Given the description of an element on the screen output the (x, y) to click on. 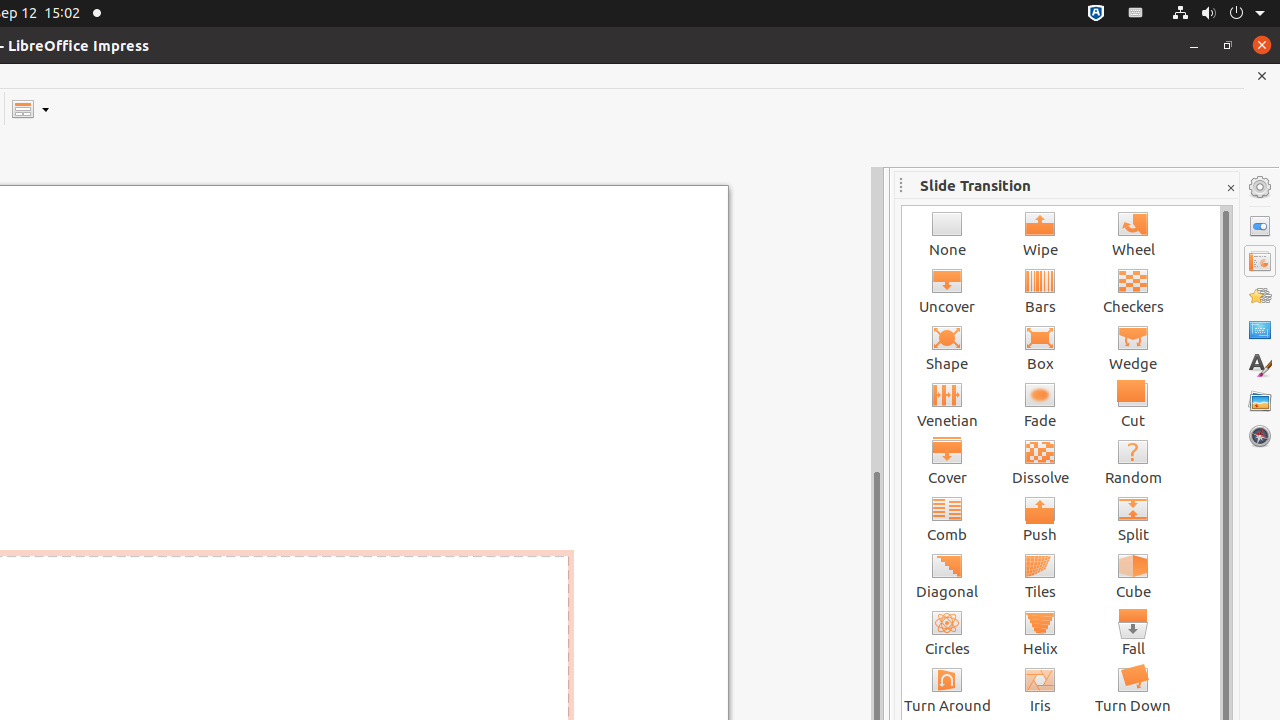
Gallery Element type: radio-button (1260, 401)
Properties Element type: radio-button (1260, 226)
Tiles Element type: list-item (1040, 575)
Dissolve Element type: list-item (1040, 461)
Master Slides Element type: radio-button (1260, 331)
